Given the description of an element on the screen output the (x, y) to click on. 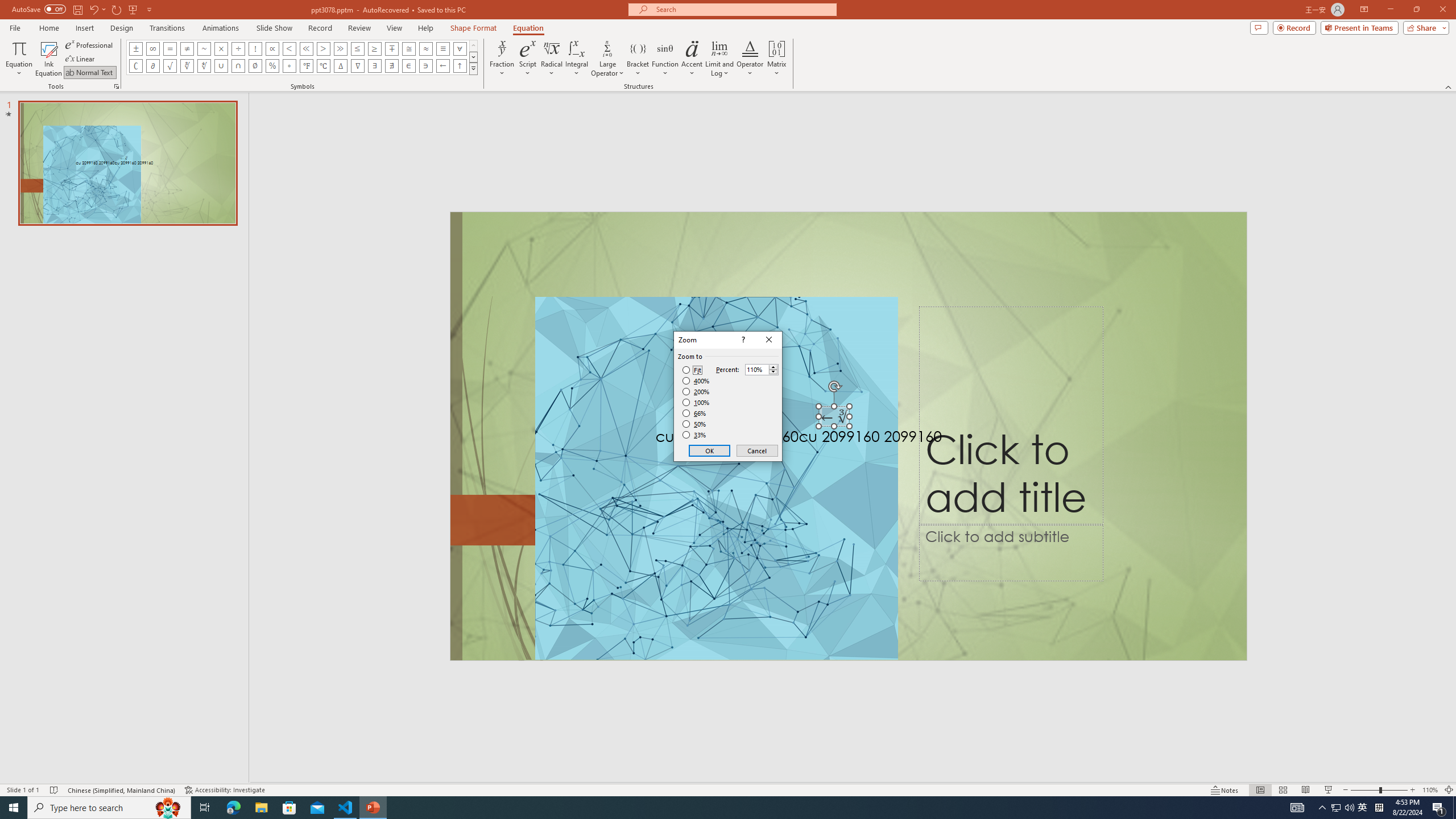
Equation Symbol Identical To (442, 48)
Equation Symbol Much Greater Than (340, 48)
Equation Symbol Partial Differential (152, 65)
Fraction (502, 58)
Equation Symbol Left Arrow (442, 65)
Equation Symbol Fourth Root (203, 65)
Zoom 110% (1430, 790)
